Given the description of an element on the screen output the (x, y) to click on. 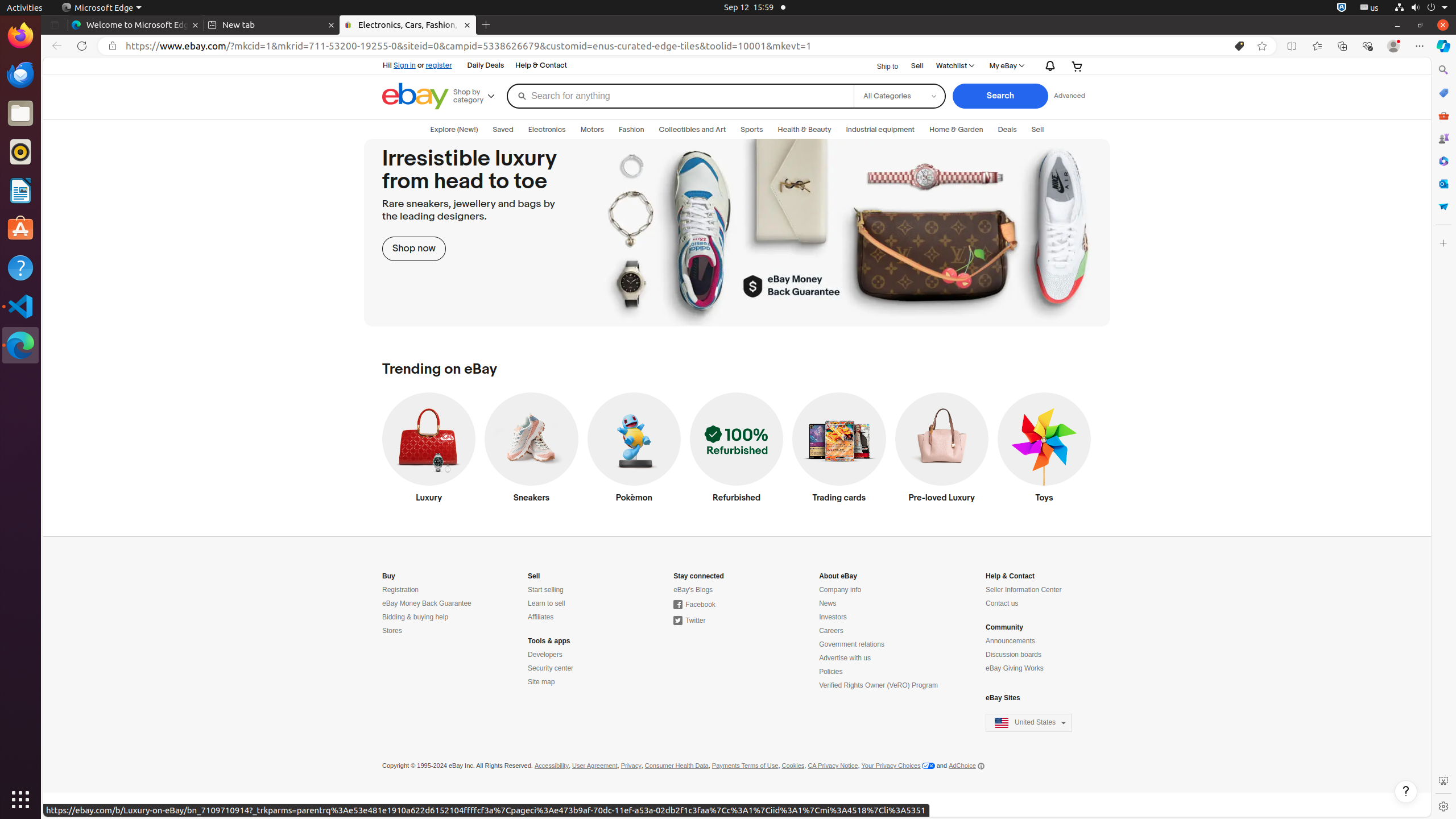
System Element type: menu (1420, 7)
Favorites Element type: push-button (1316, 45)
Security center Element type: link (550, 668)
Start selling Element type: link (545, 589)
eBay sites,United States Element type: push-button (1028, 722)
